Given the description of an element on the screen output the (x, y) to click on. 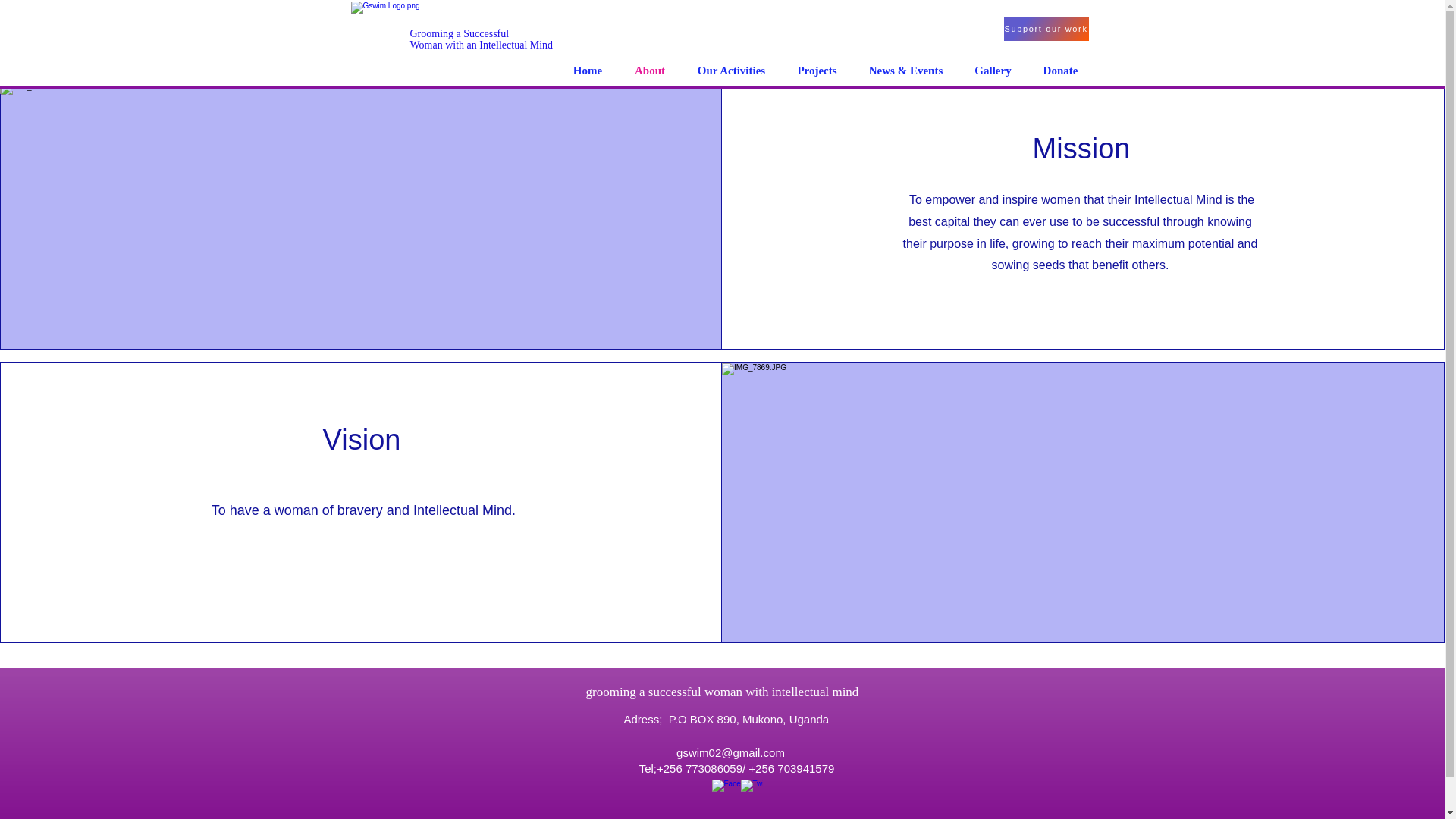
Support our work (1046, 28)
Home (506, 232)
Gallery (481, 38)
About (992, 70)
Home (649, 70)
Our Activities (586, 70)
Projects (730, 70)
Donate (815, 70)
About (1059, 70)
